Given the description of an element on the screen output the (x, y) to click on. 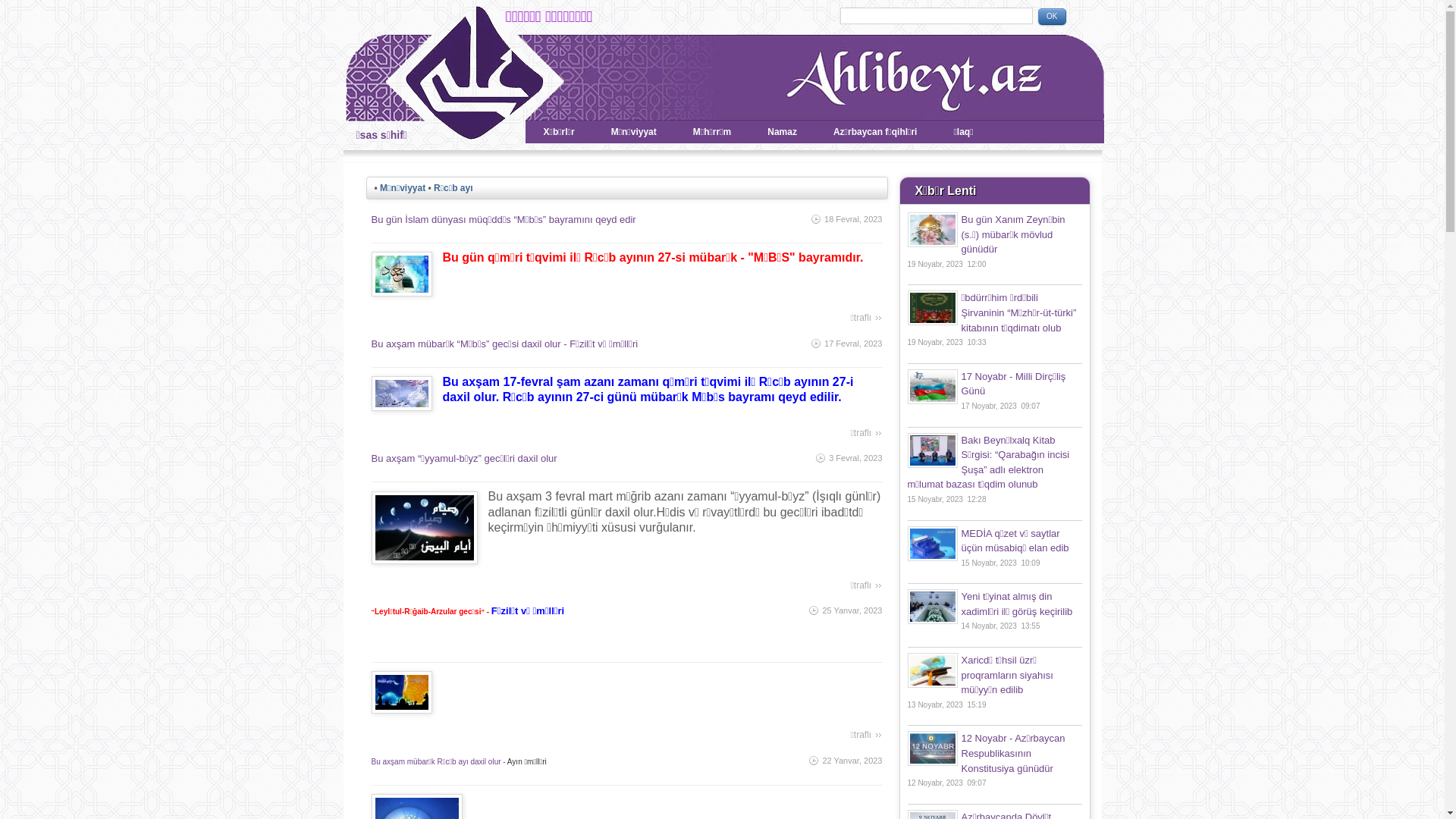
Namaz Element type: text (782, 131)
OK Element type: text (1051, 15)
